Given the description of an element on the screen output the (x, y) to click on. 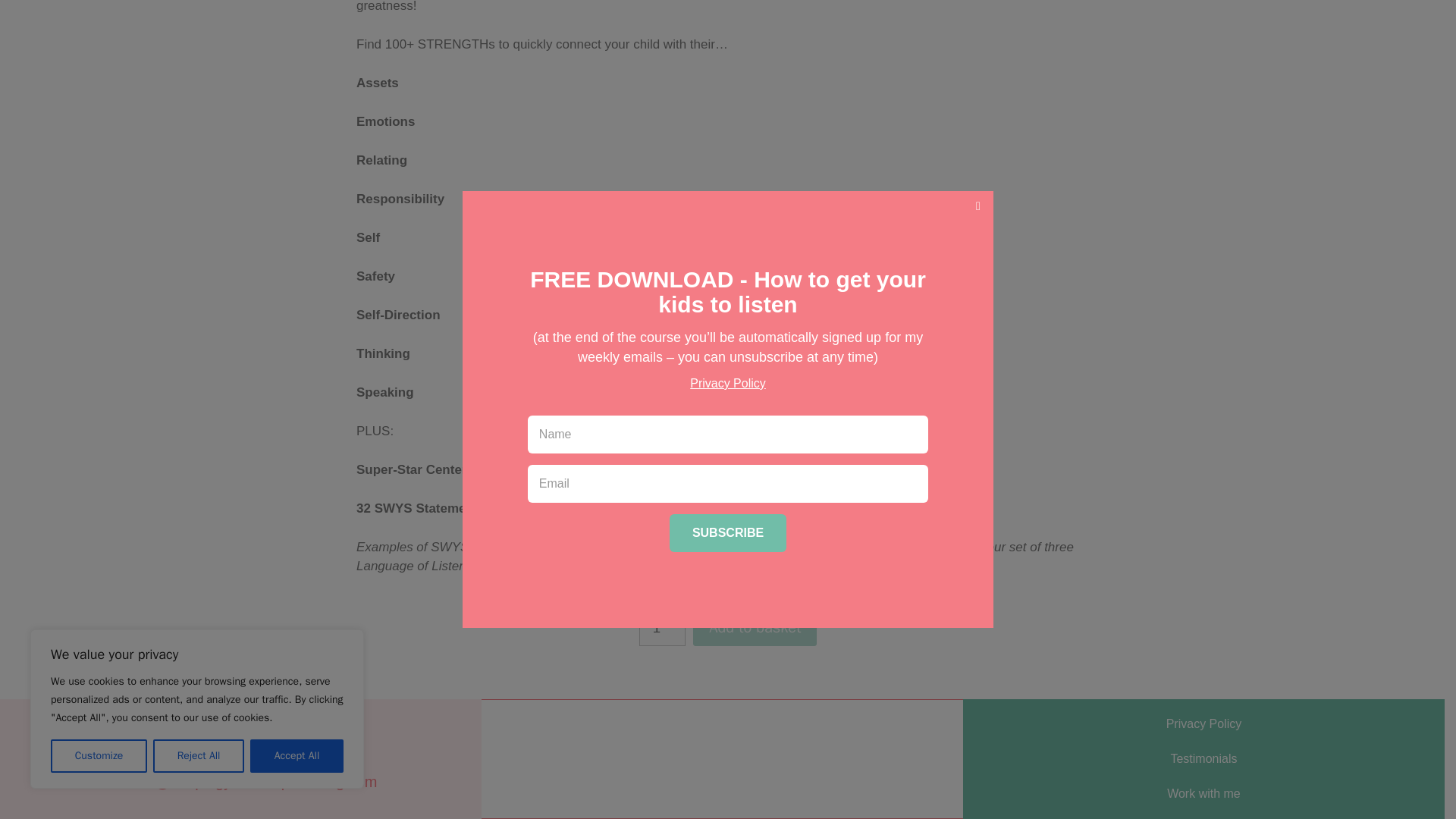
2155 (754, 628)
